Given the description of an element on the screen output the (x, y) to click on. 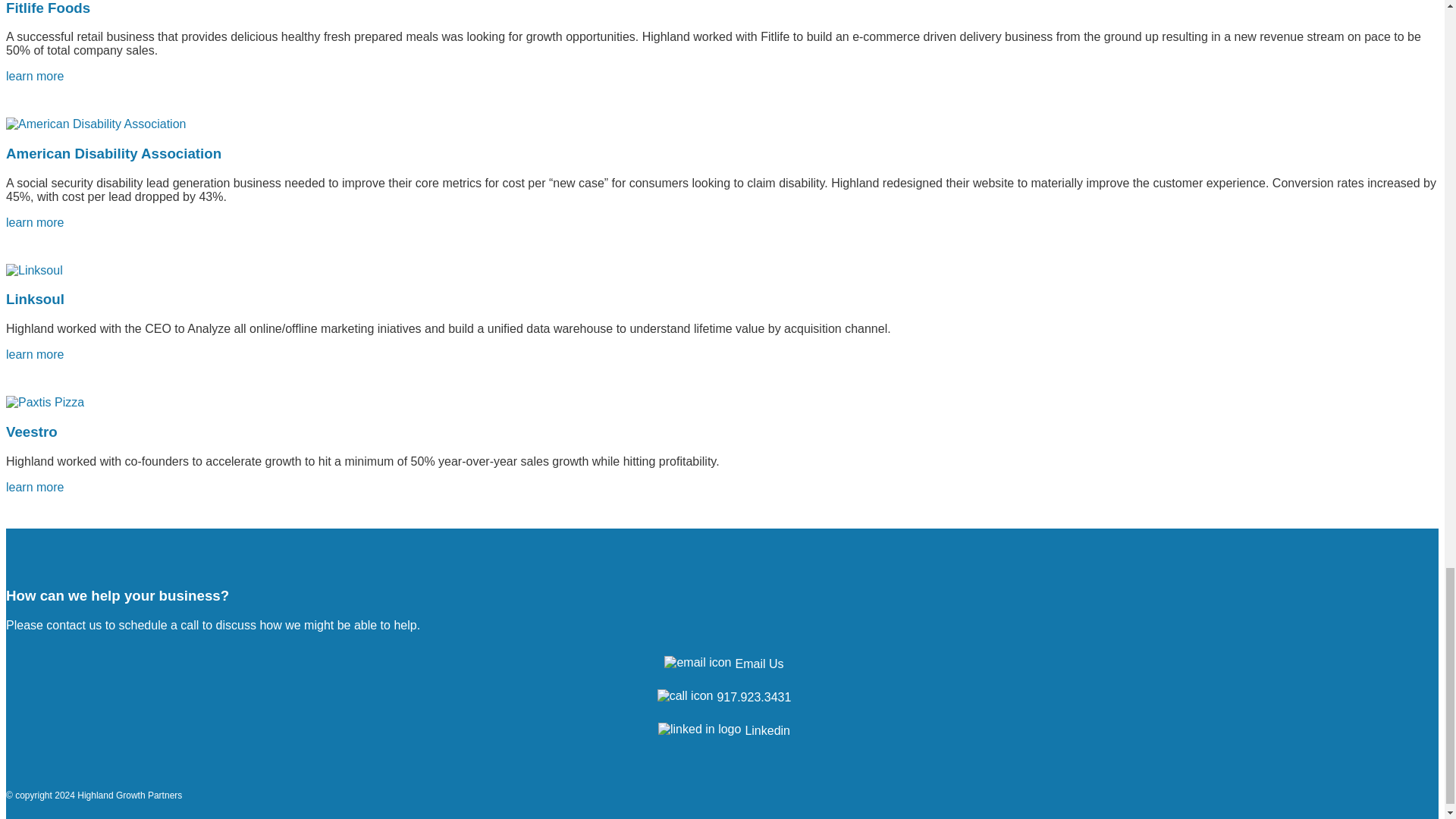
Email Us (720, 662)
learn more (34, 486)
learn more (34, 222)
learn more (34, 222)
learn more (34, 75)
learn more (95, 123)
learn more (34, 354)
917.923.3431 (722, 695)
Linkedin (722, 728)
learn more (34, 75)
